Given the description of an element on the screen output the (x, y) to click on. 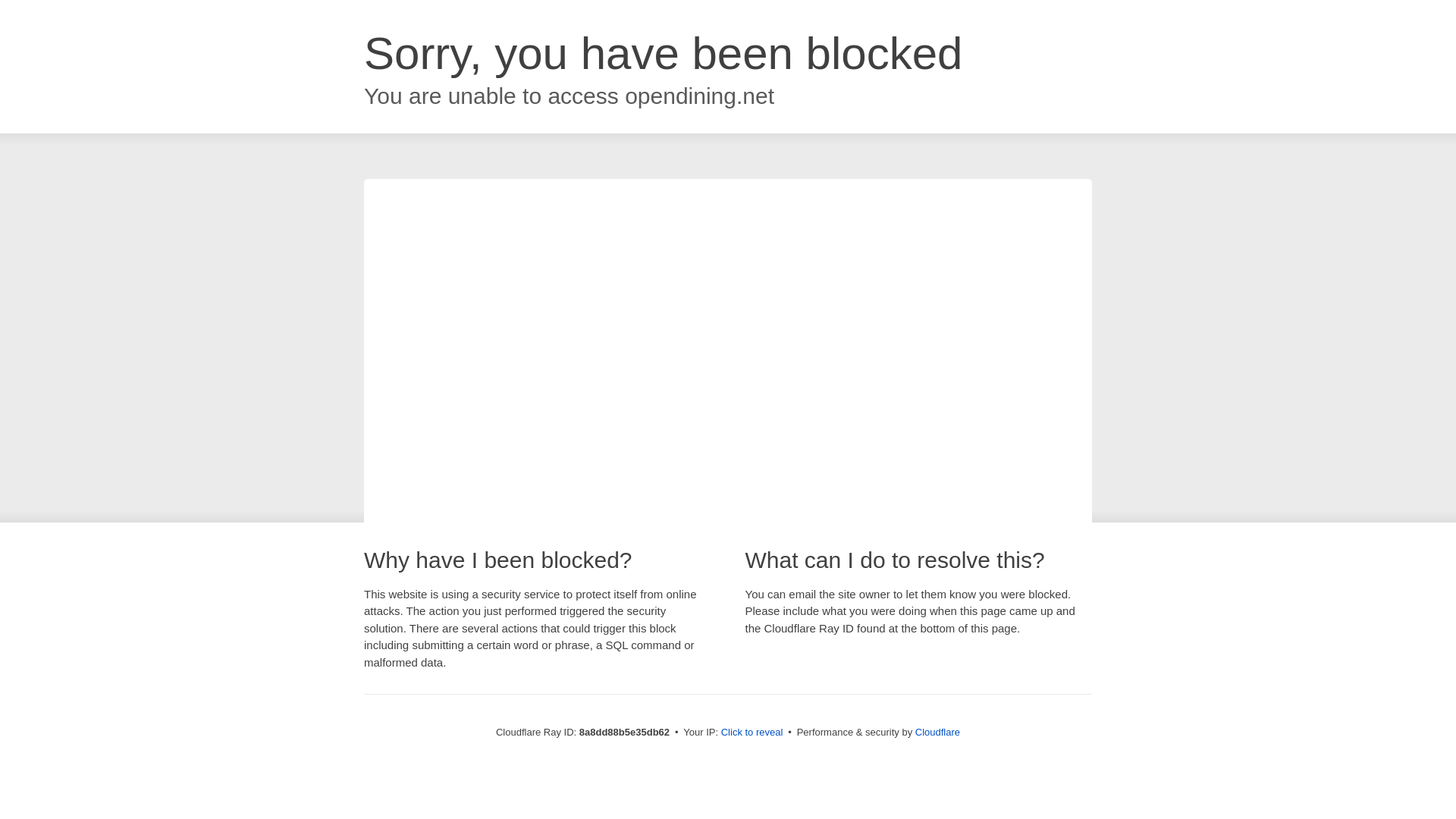
Cloudflare (937, 731)
Click to reveal (751, 732)
